Given the description of an element on the screen output the (x, y) to click on. 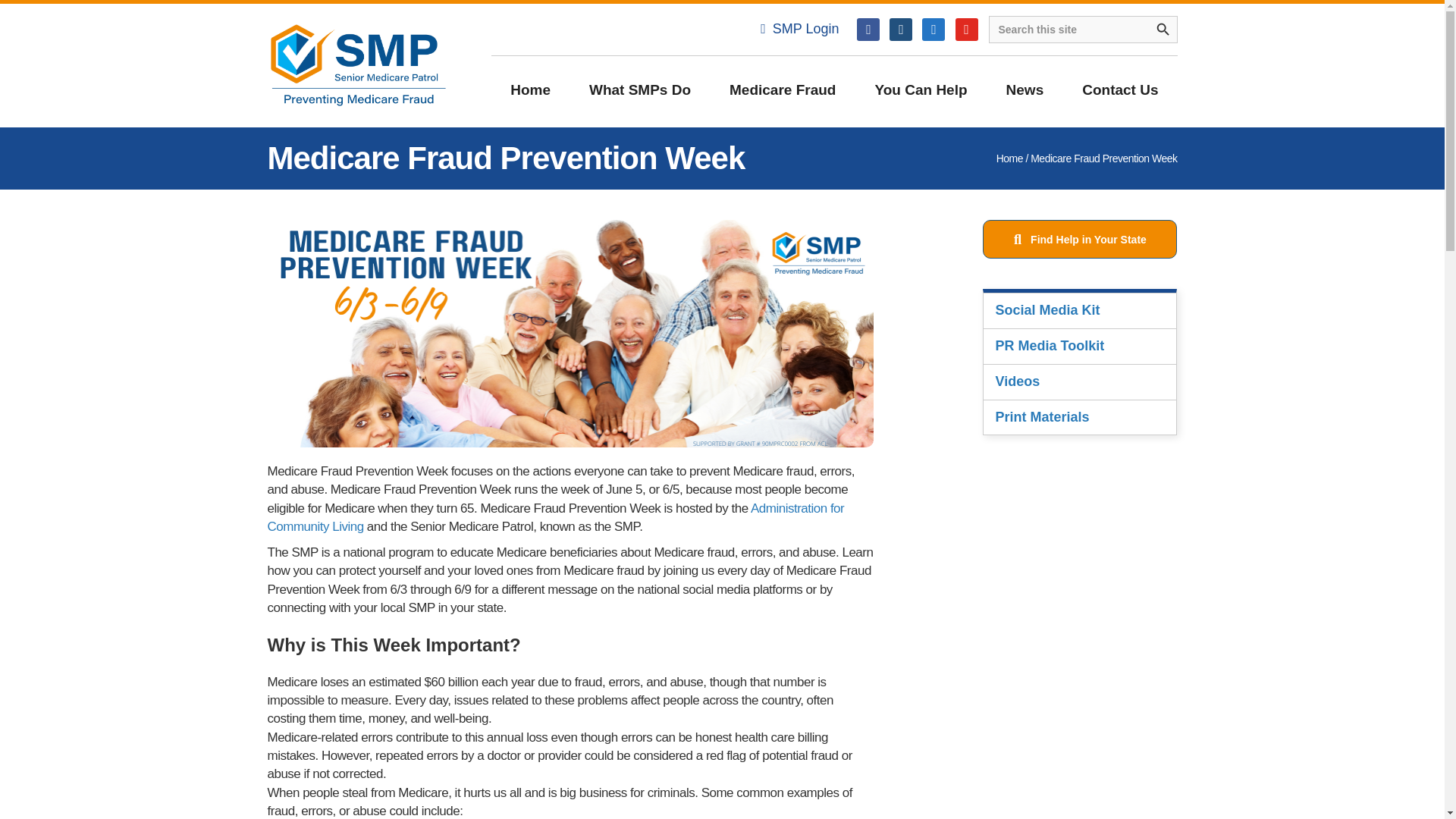
Search Button (1163, 29)
Medicare Fraud (782, 89)
Instagram (900, 28)
SMPLogo (357, 65)
Administration for Community Living (555, 517)
Home (530, 89)
What SMPs Do (640, 89)
youtube (966, 28)
SMP Login (799, 28)
Contact Us (1119, 89)
Facebook (868, 28)
linkedin (932, 28)
instagram (900, 28)
News (1024, 89)
